Given the description of an element on the screen output the (x, y) to click on. 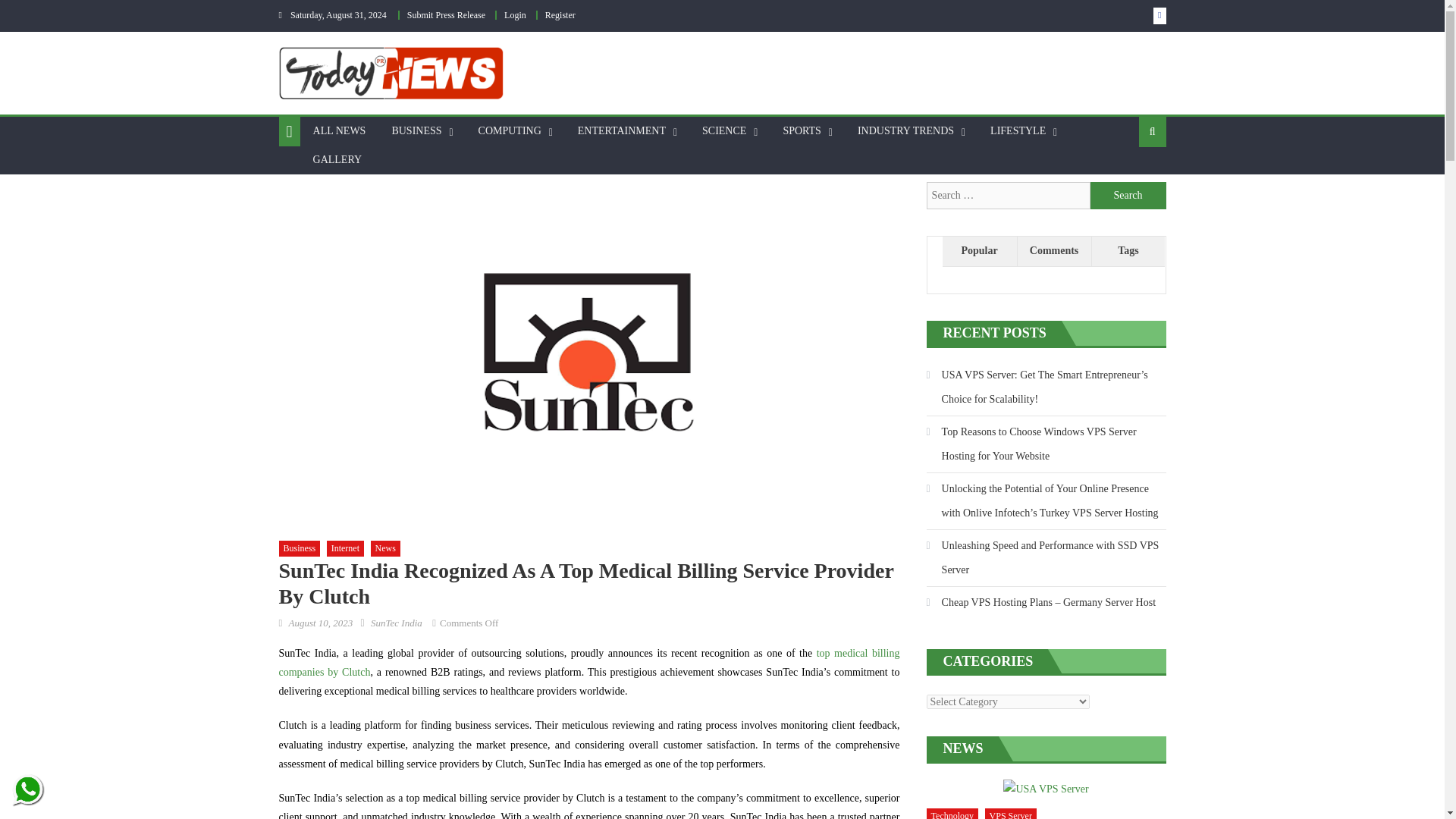
SCIENCE (723, 131)
Search (1128, 195)
SPORTS (801, 131)
ALL NEWS (339, 131)
BUSINESS (416, 131)
Submit Press Release (445, 14)
Register (559, 14)
INDUSTRY TRENDS (905, 131)
COMPUTING (510, 131)
ENTERTAINMENT (621, 131)
